Given the description of an element on the screen output the (x, y) to click on. 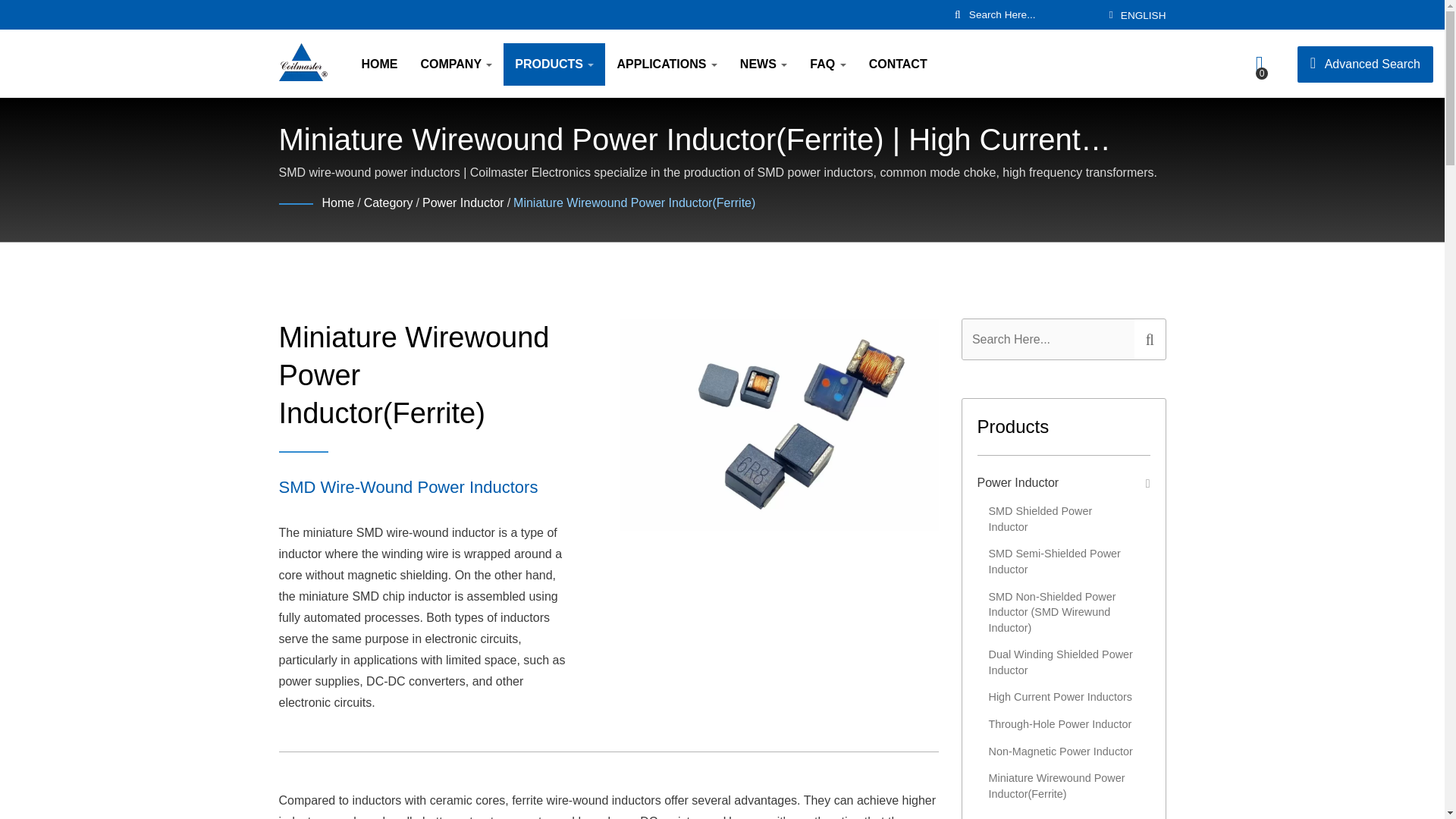
Advanced Search (1364, 63)
ENGLISH (1143, 15)
Search Here... (1033, 14)
Power Inductor (462, 203)
Category (388, 203)
Search Here... (1047, 339)
HOME (379, 64)
COMPANY (456, 64)
PRODUCTS (554, 64)
